Given the description of an element on the screen output the (x, y) to click on. 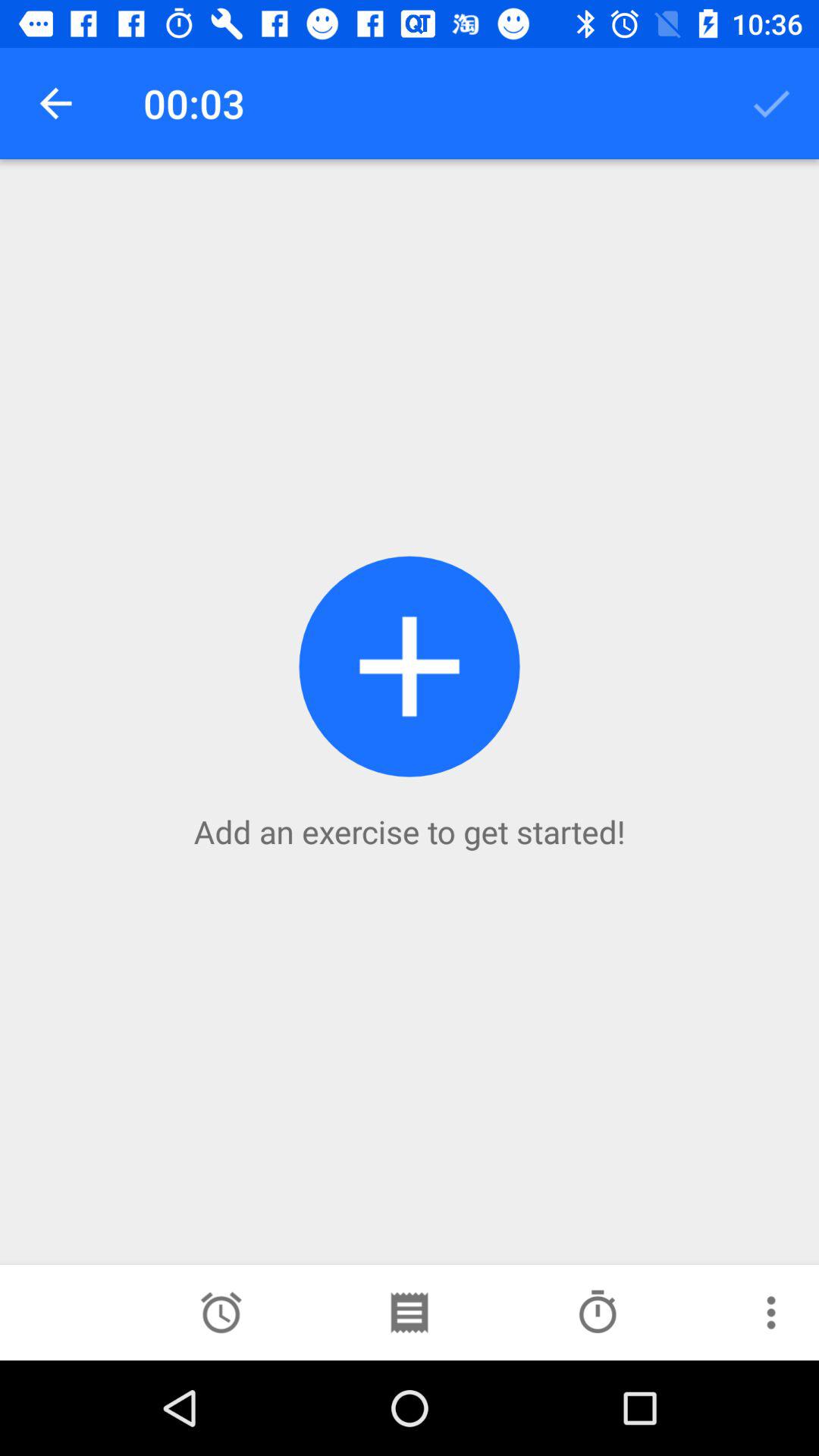
tap the icon to the left of 00:03 (55, 103)
